Given the description of an element on the screen output the (x, y) to click on. 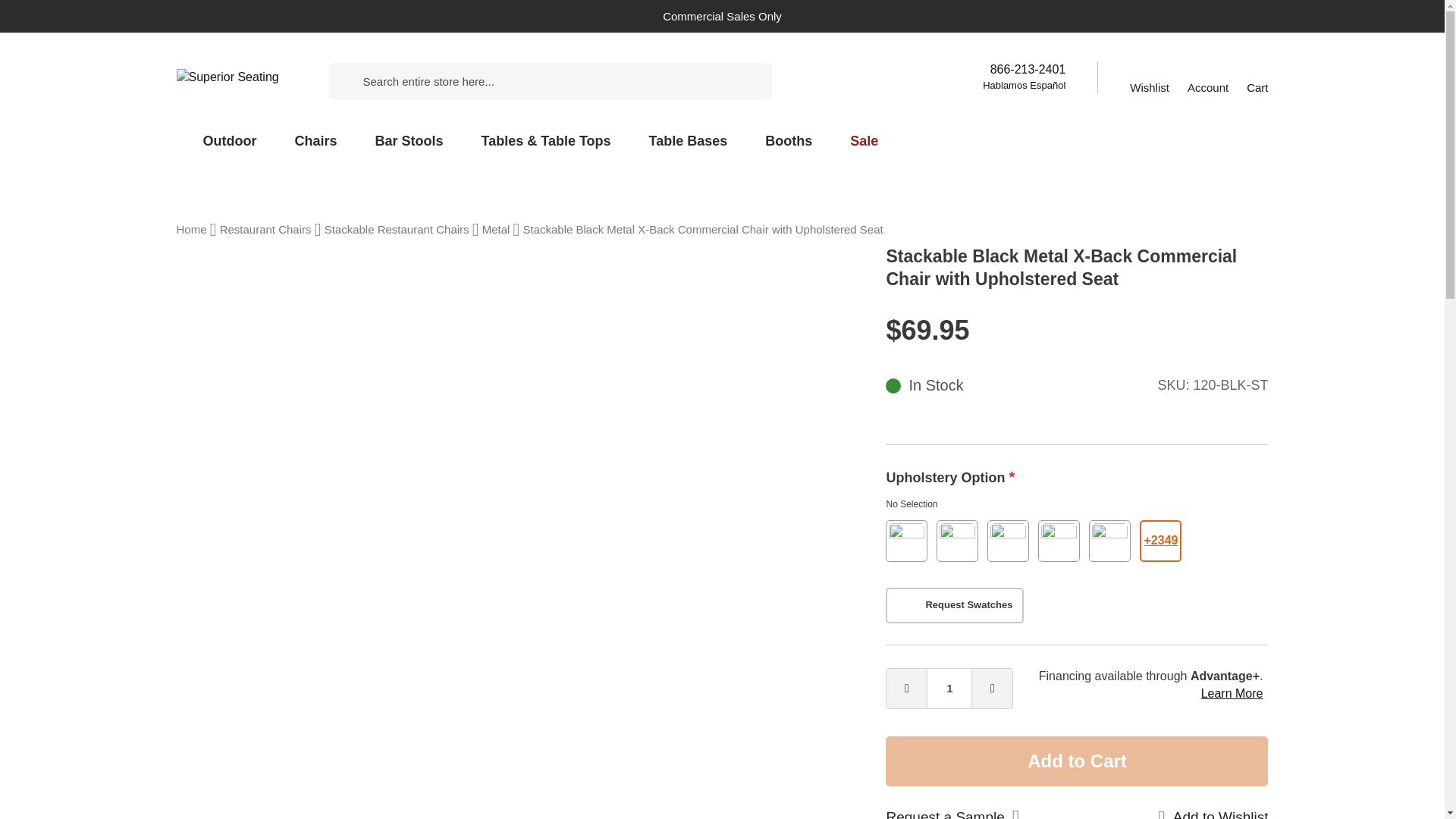
Wishlist (1149, 76)
Search (309, 81)
Account (1217, 76)
Search (309, 81)
Outdoor (229, 141)
1 (949, 688)
Outdoor (229, 141)
Superior Seating (237, 77)
